Given the description of an element on the screen output the (x, y) to click on. 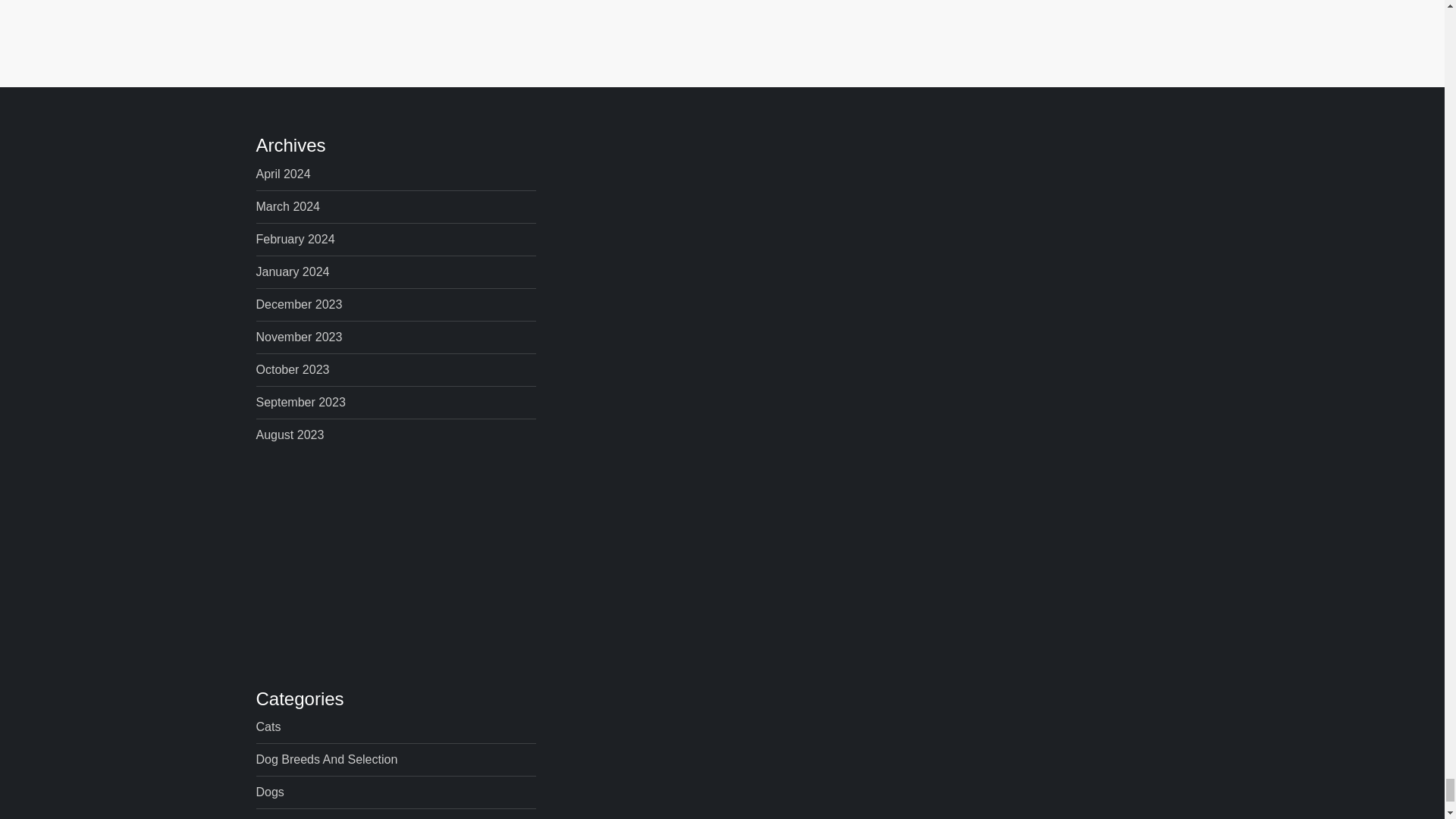
October 2023 (293, 369)
September 2023 (301, 402)
January 2024 (293, 271)
Dog Breeds And Selection (326, 759)
December 2023 (299, 304)
March 2024 (288, 206)
Cats (268, 726)
February 2024 (295, 239)
November 2023 (299, 337)
August 2023 (290, 435)
April 2024 (283, 174)
